Given the description of an element on the screen output the (x, y) to click on. 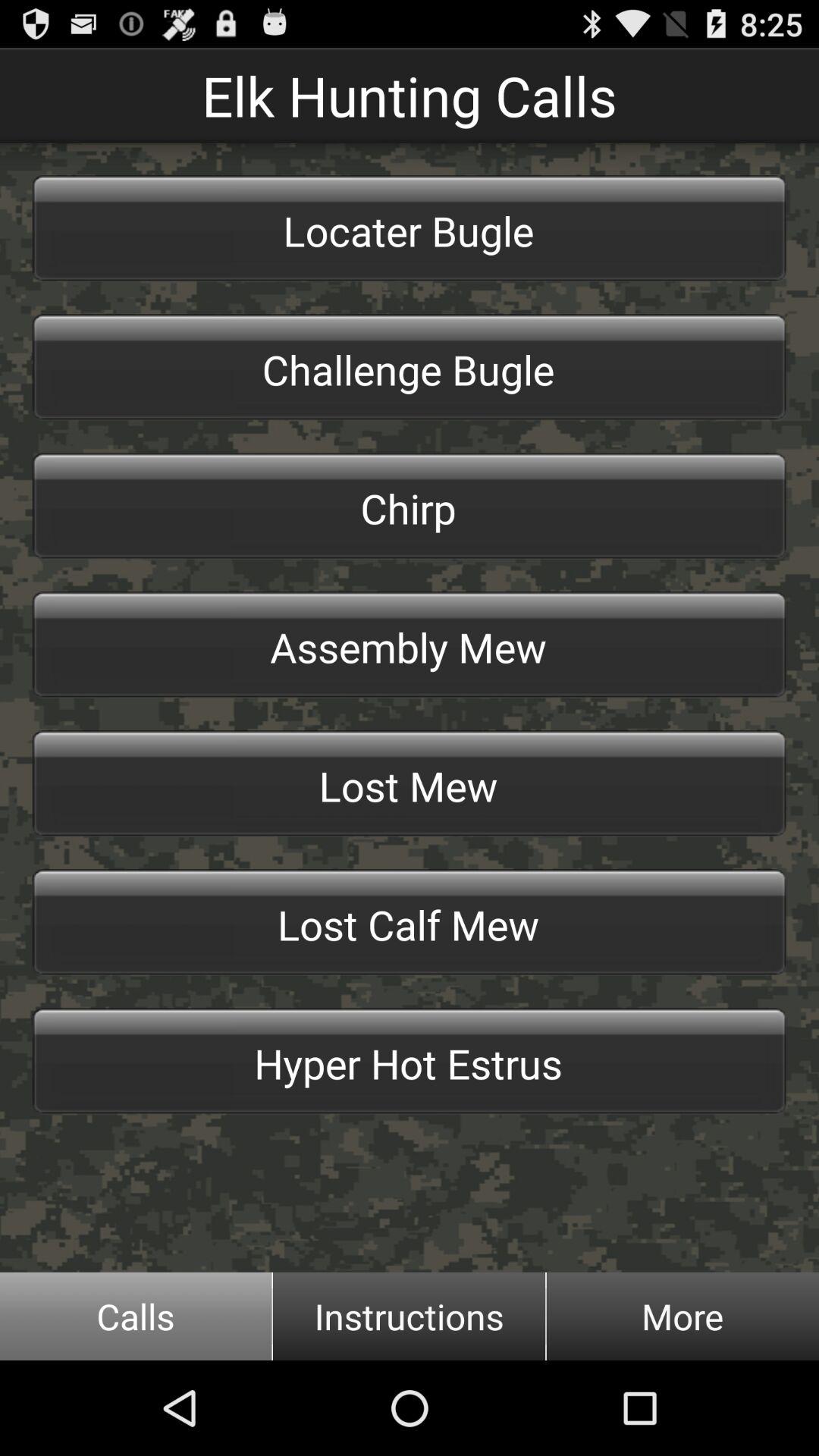
scroll to the challenge bugle (409, 366)
